Given the description of an element on the screen output the (x, y) to click on. 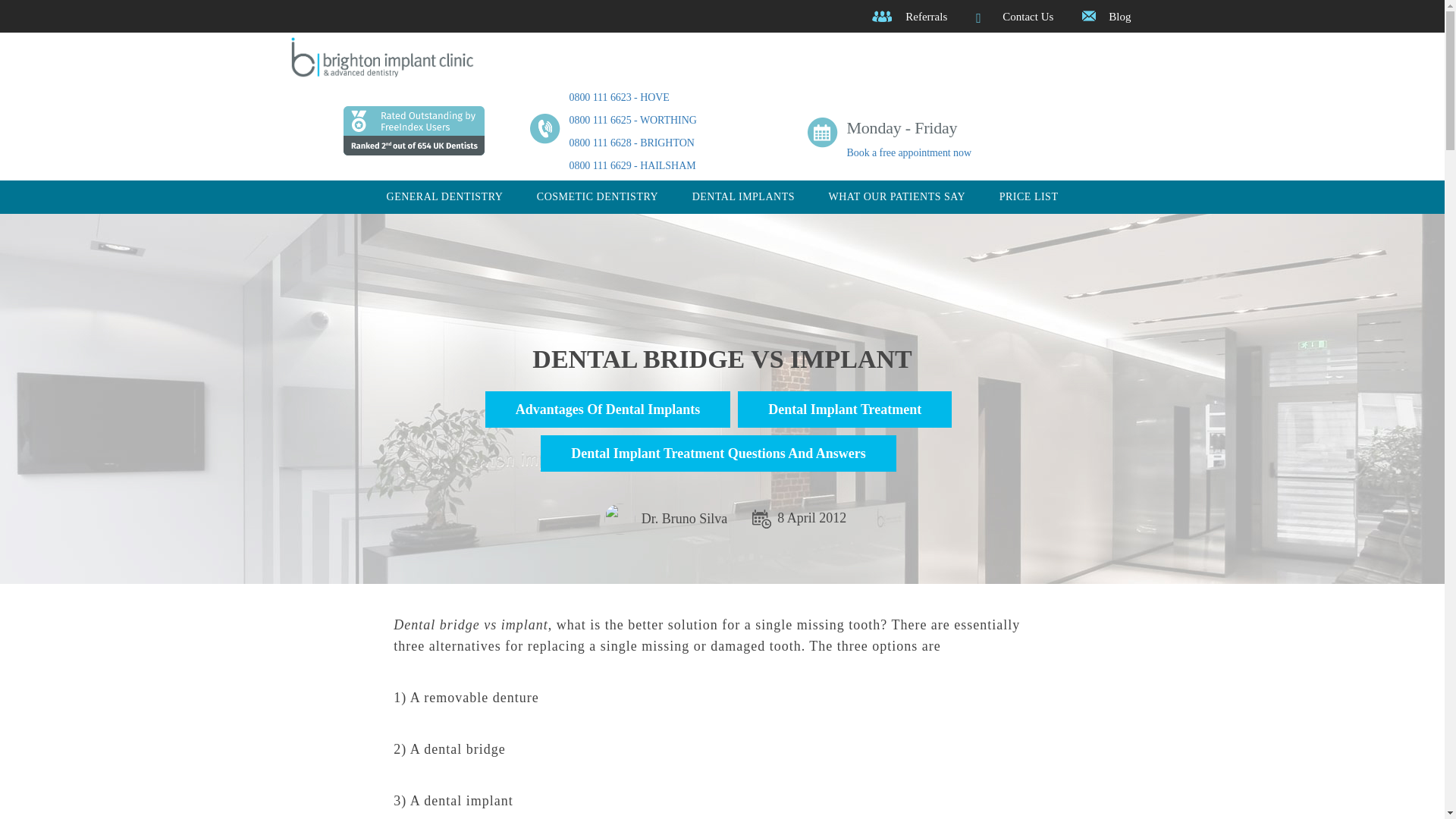
0800 111 6625 - WORTHING (632, 120)
WHAT OUR PATIENTS SAY (896, 196)
0800 111 6623 - HOVE (618, 97)
PRICE LIST (1028, 196)
0800 111 6629 - HAILSHAM (632, 165)
Contact Us (1027, 16)
Blog (1119, 16)
DENTAL IMPLANTS (743, 196)
Book a free appointment now (908, 152)
0800 111 6628 - BRIGHTON (631, 142)
COSMETIC DENTISTRY (597, 196)
Referrals (926, 16)
GENERAL DENTISTRY (445, 196)
